Given the description of an element on the screen output the (x, y) to click on. 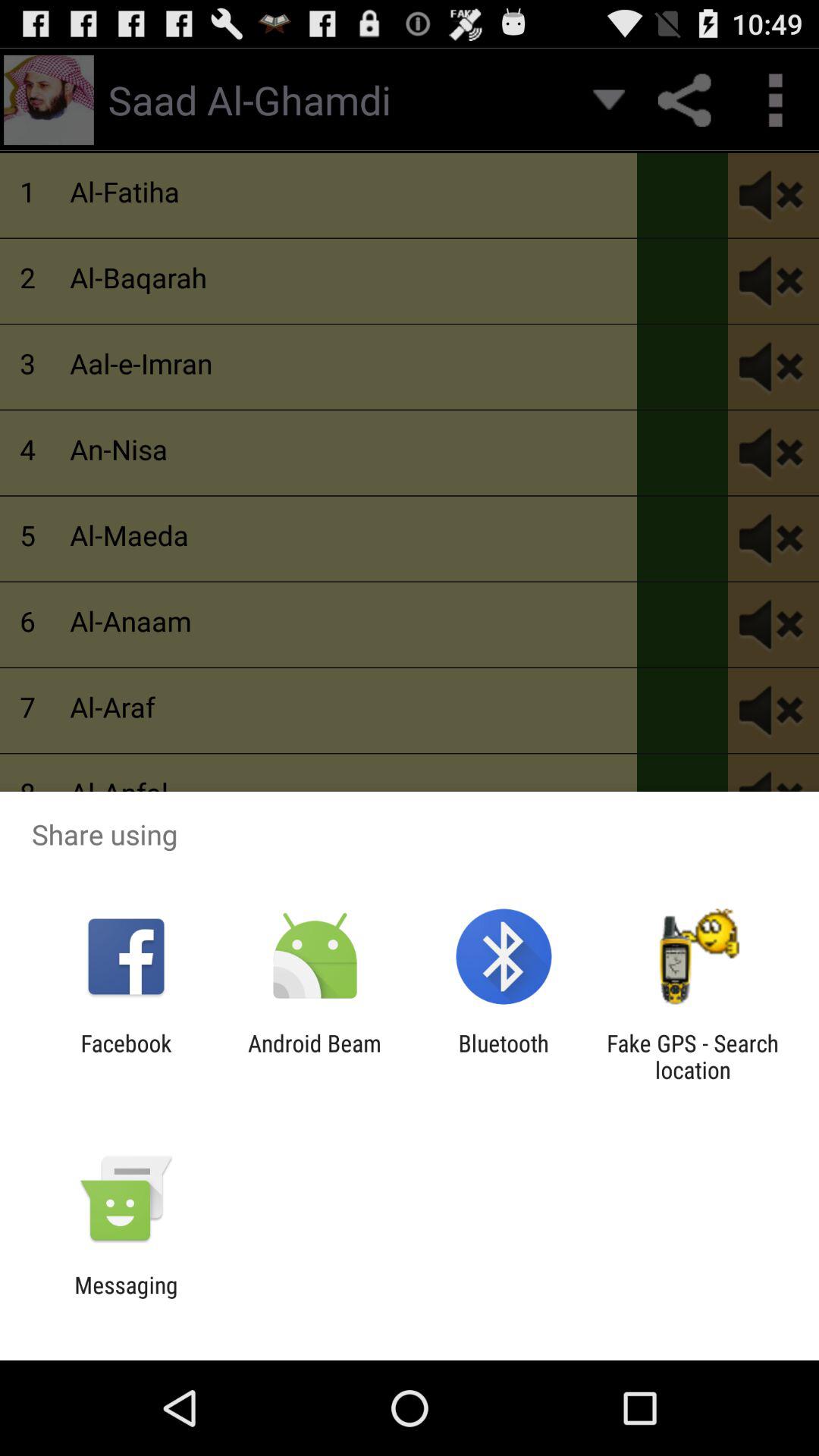
tap the messaging app (126, 1298)
